Given the description of an element on the screen output the (x, y) to click on. 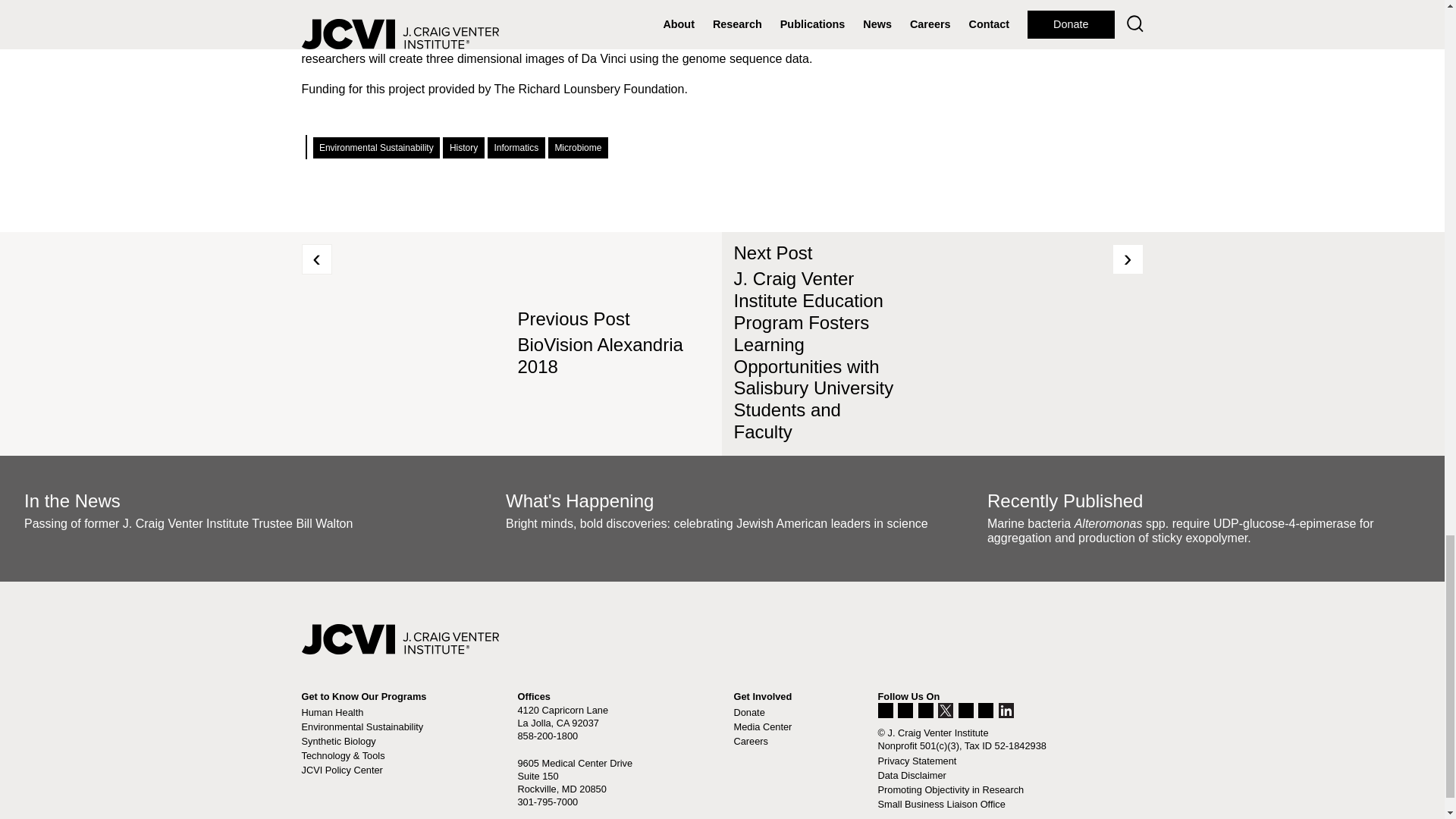
Environmental Sustainability (376, 147)
Microbiome (578, 147)
Informatics (515, 147)
BioVision Alexandria 2018 (599, 355)
History (462, 147)
